Given the description of an element on the screen output the (x, y) to click on. 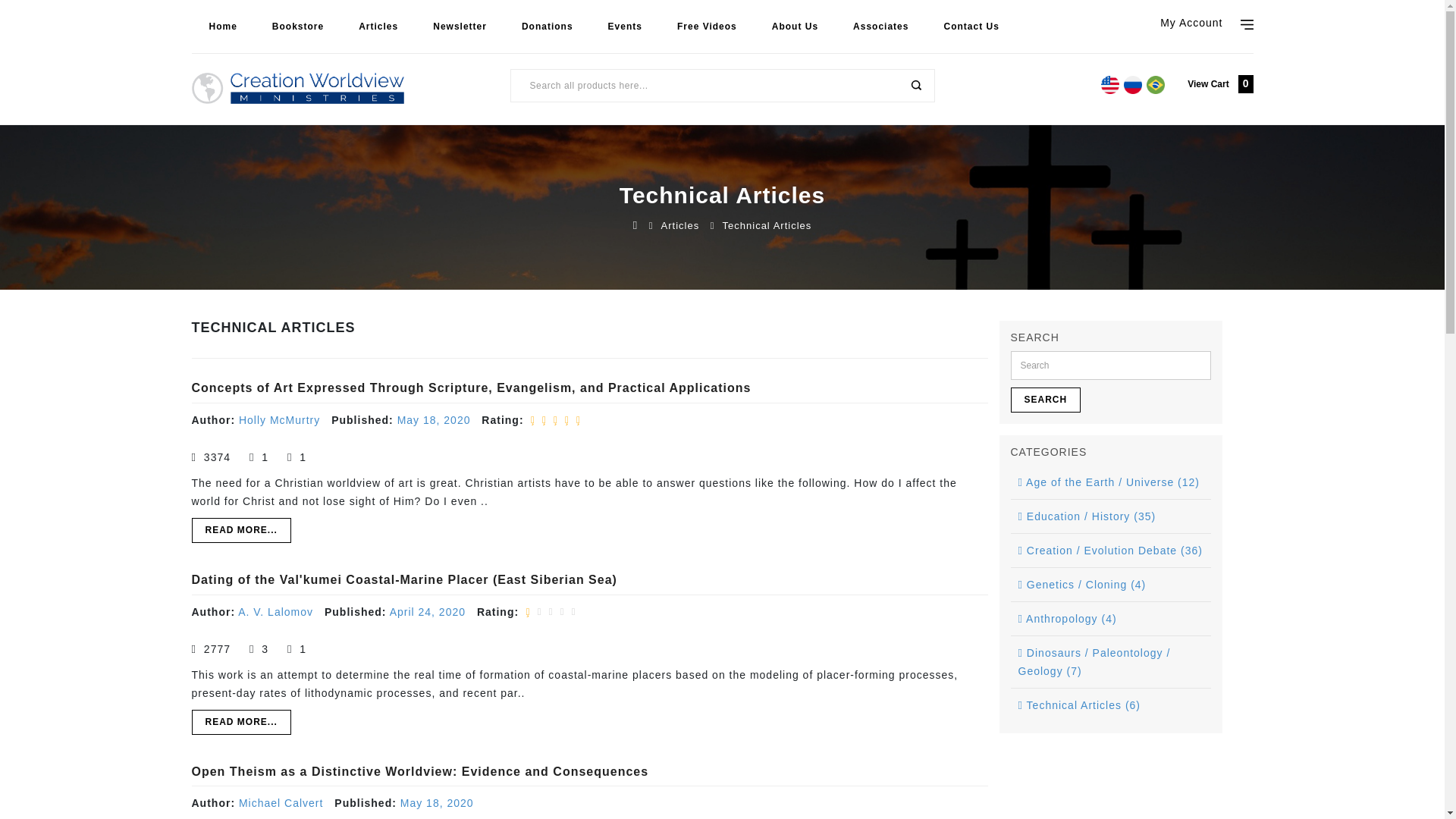
Language: Portuguese (1155, 85)
Michael Calvert (280, 802)
May 18, 2020 (433, 419)
SEARCH (915, 85)
My Account (1206, 20)
Free Videos (706, 26)
Contact Us (970, 26)
Associates (880, 26)
READ MORE... (239, 529)
Newsletter (459, 26)
Language: English (1109, 85)
Bookstore (297, 26)
May 18, 2020 (437, 802)
A. V. Lalomov (275, 612)
April 24, 2020 (427, 612)
